Given the description of an element on the screen output the (x, y) to click on. 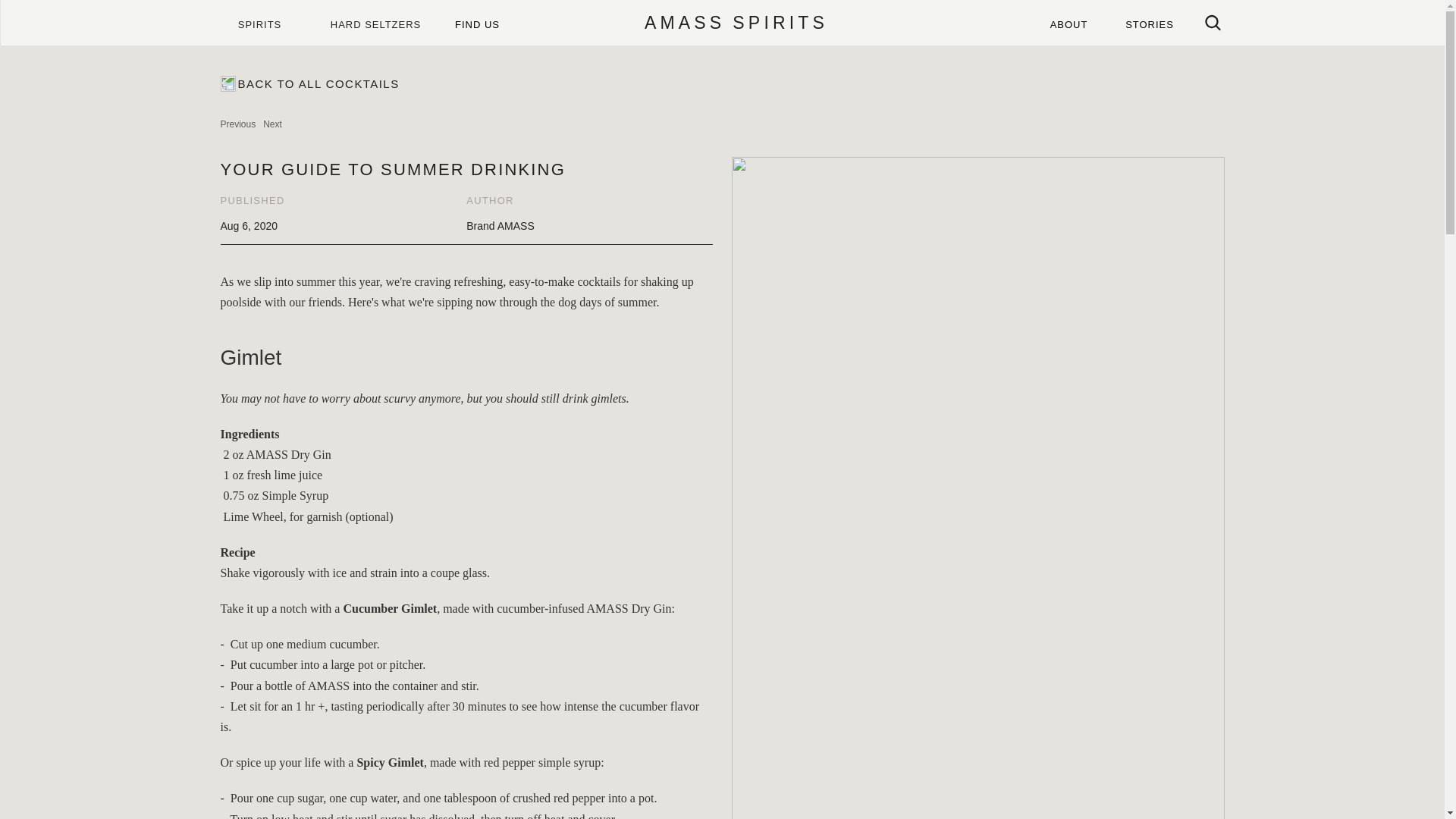
Next (272, 124)
BACK TO ALL COCKTAILS (308, 83)
ABOUT (1068, 22)
Previous (237, 124)
FIND US (477, 22)
